Given the description of an element on the screen output the (x, y) to click on. 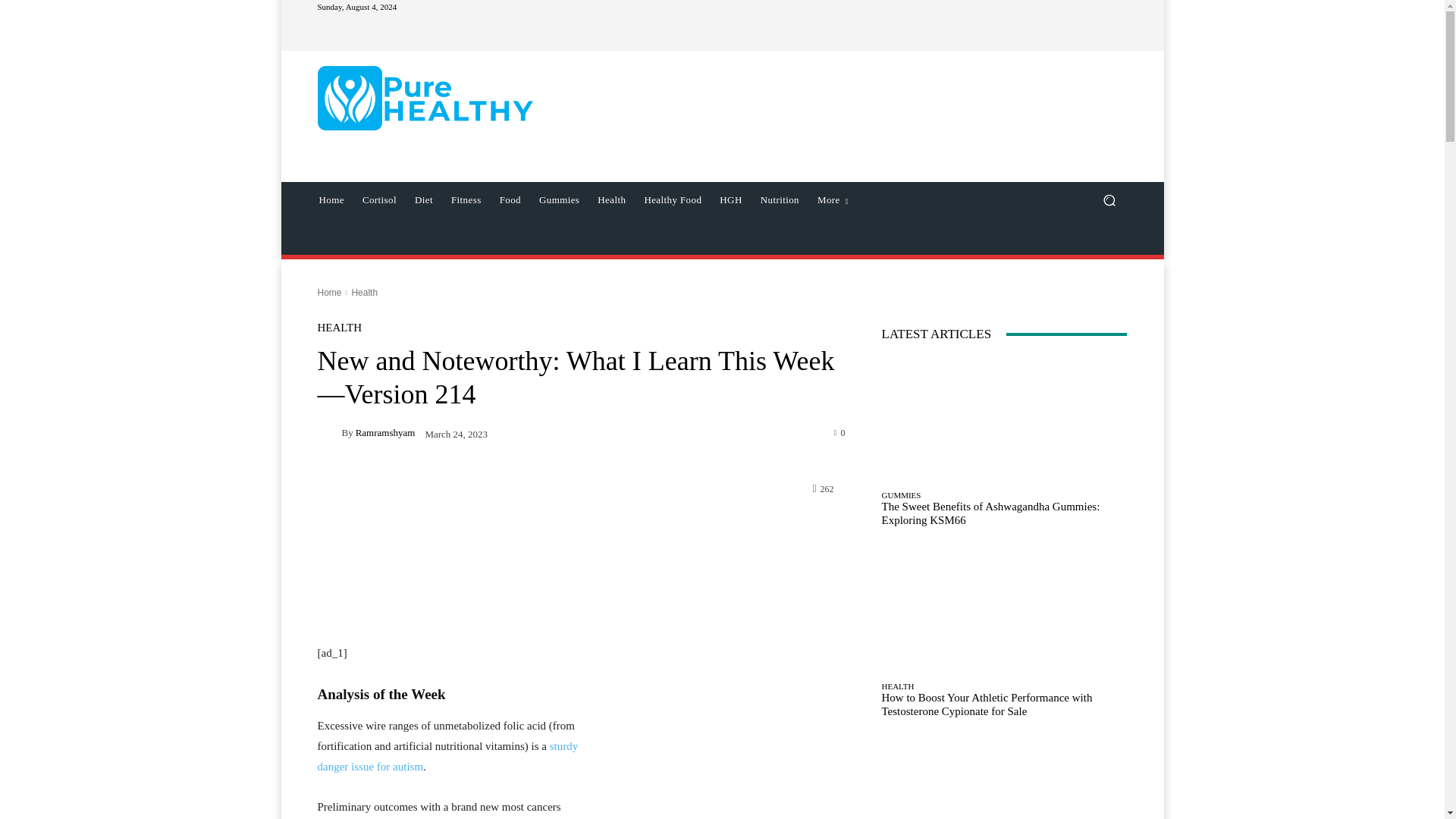
Gummies (558, 199)
View all posts in Health (363, 292)
Diet (424, 199)
ramramshyam (328, 433)
Nutrition (779, 199)
Health (611, 199)
HGH (730, 199)
Healthy Food (672, 199)
Food (509, 199)
Cortisol (379, 199)
Fitness (466, 199)
More (832, 199)
Home (330, 199)
